Given the description of an element on the screen output the (x, y) to click on. 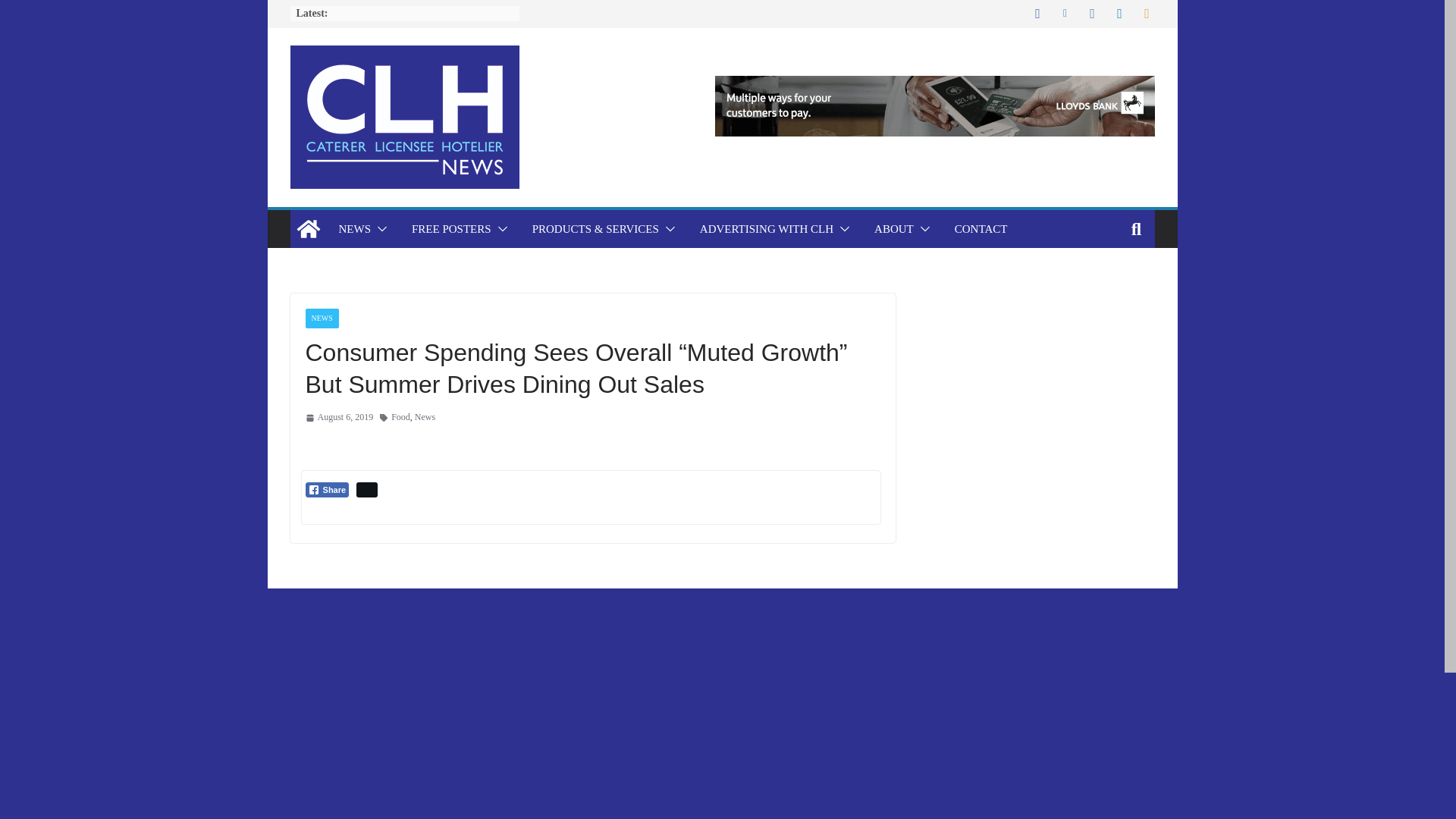
CLH News: Caterer, Licensee and Hotelier News (307, 228)
12:56 pm (338, 417)
FREE POSTERS (452, 228)
NEWS (354, 228)
